Given the description of an element on the screen output the (x, y) to click on. 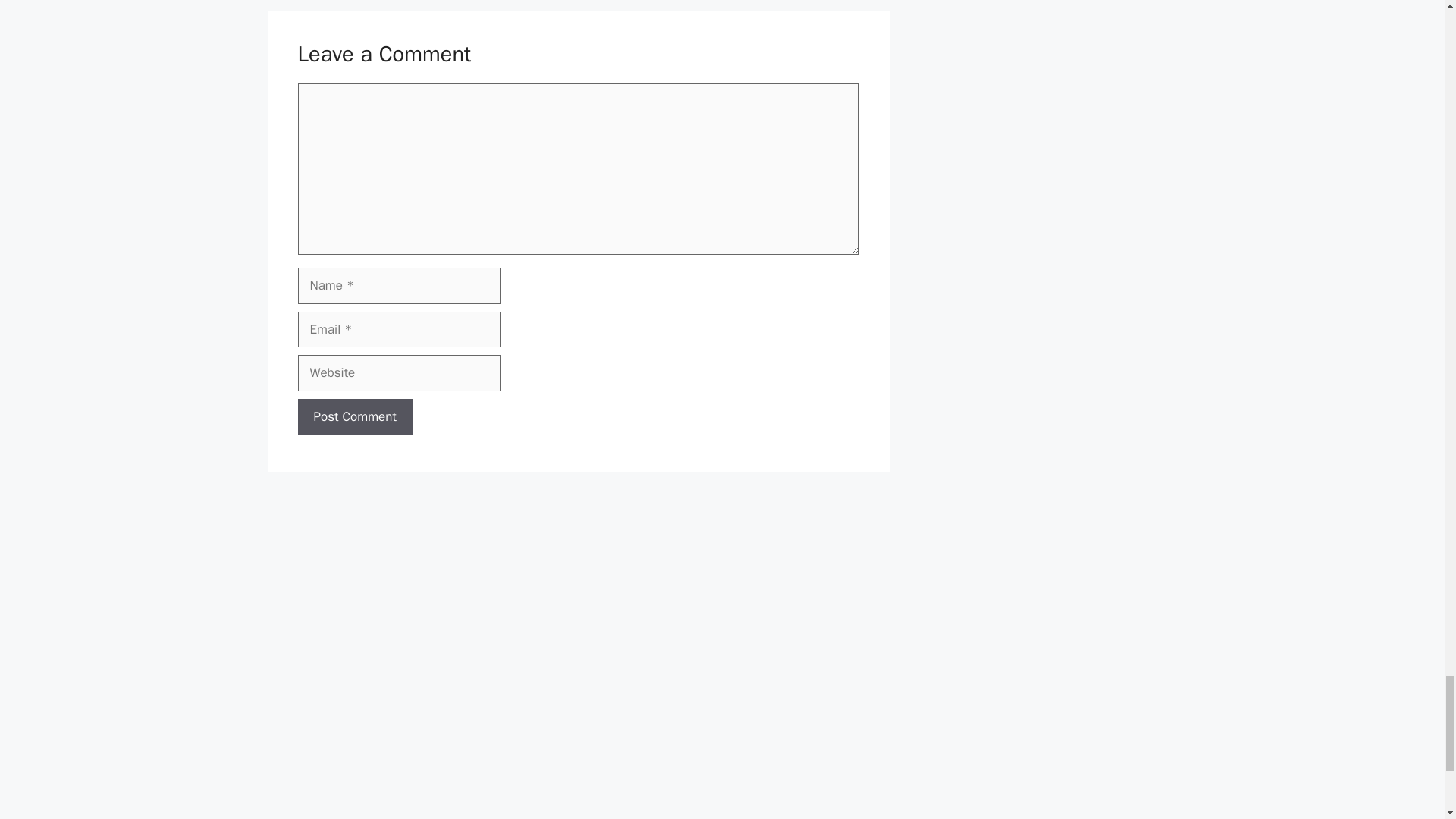
Post Comment (354, 416)
Post Comment (354, 416)
